Given the description of an element on the screen output the (x, y) to click on. 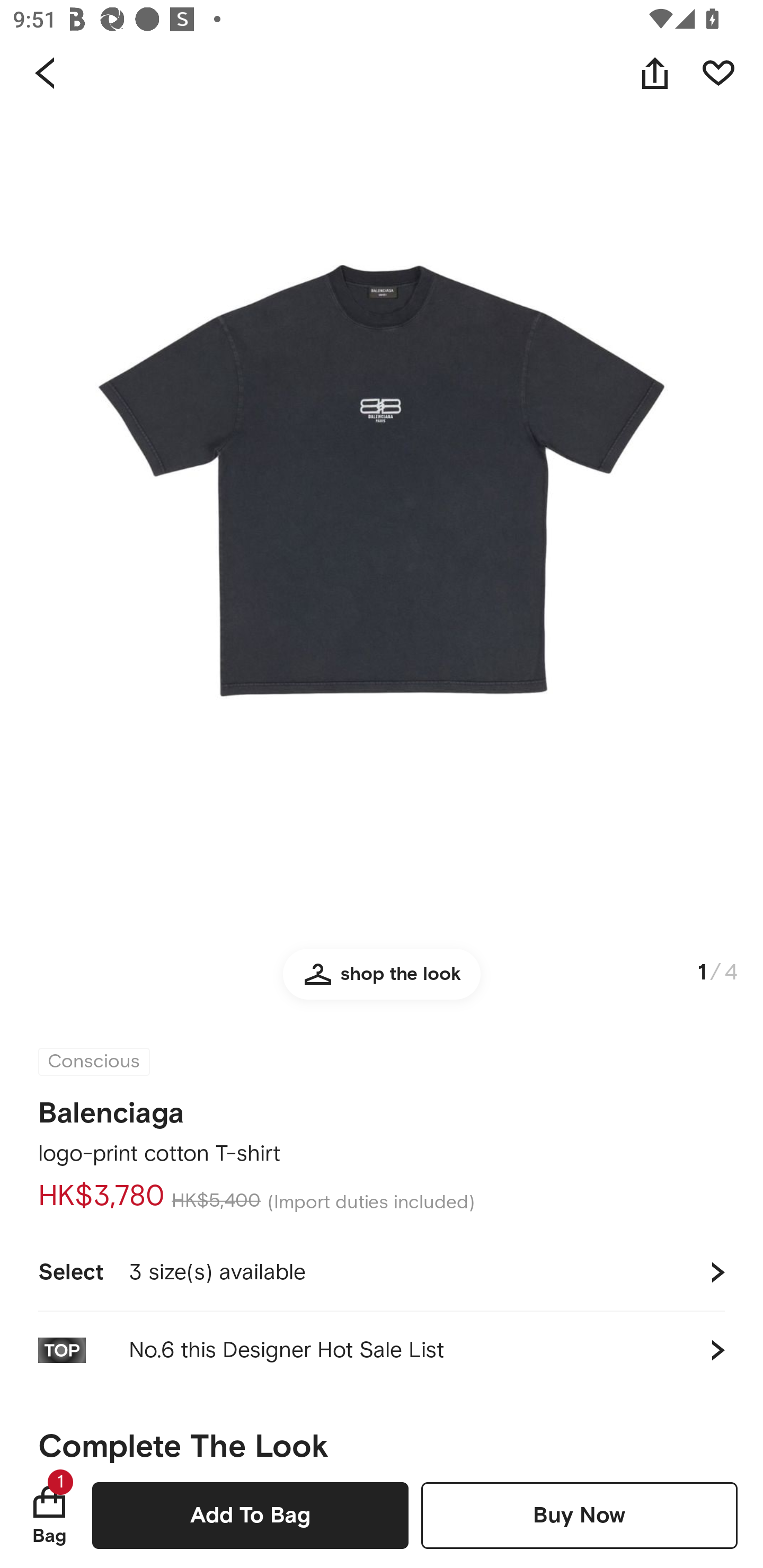
shop the look (381, 982)
Balenciaga (111, 1107)
Select 3 size(s) available (381, 1272)
No.6 this Designer Hot Sale List (381, 1349)
Bag 1 (49, 1515)
Add To Bag (250, 1515)
Buy Now (579, 1515)
